Given the description of an element on the screen output the (x, y) to click on. 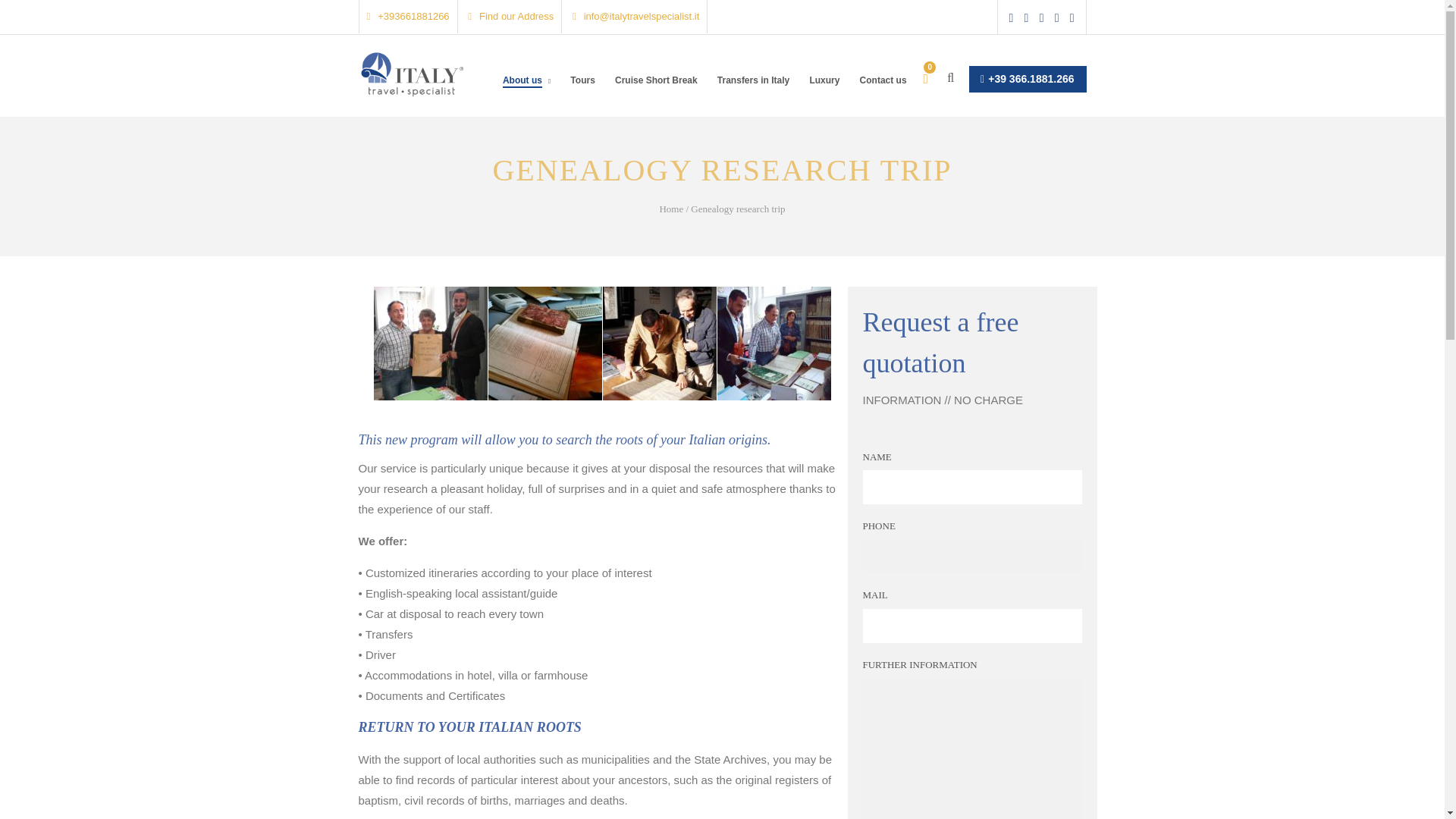
Cruise Short Break (655, 92)
Find our Address (510, 16)
Contact us (882, 92)
About us (526, 92)
Home (670, 208)
Luxury (824, 92)
Tours (582, 92)
Transfers in Italy (753, 92)
